Given the description of an element on the screen output the (x, y) to click on. 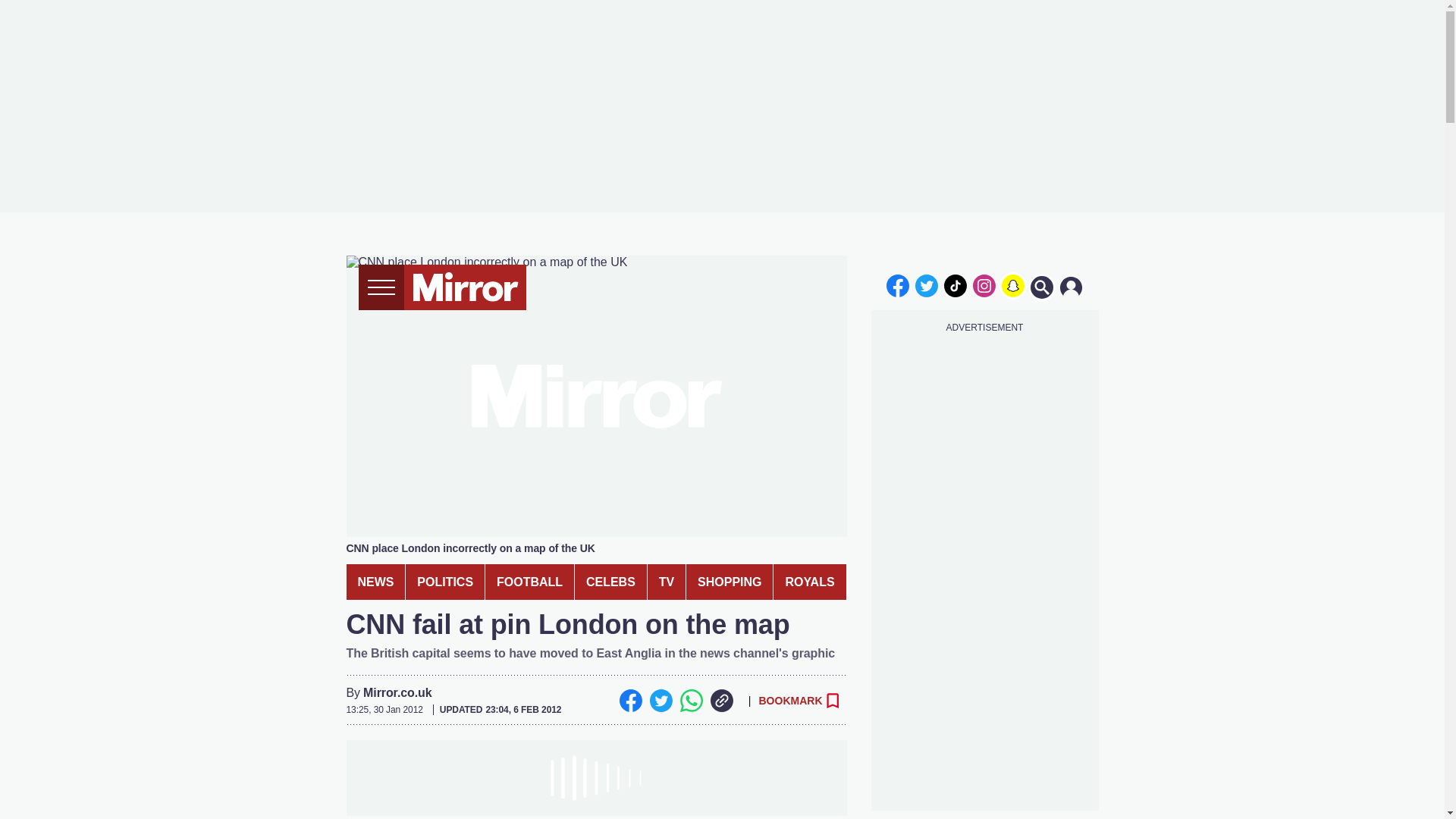
instagram (984, 285)
Facebook (630, 700)
CELEBS (610, 581)
NEWS (375, 581)
POLITICS (445, 581)
SHOPPING (729, 581)
Twitter (660, 700)
snapchat (1012, 285)
ROYALS (809, 581)
facebook (897, 285)
TV (666, 581)
FOOTBALL (528, 581)
tiktok (955, 285)
Whatsapp (690, 700)
twitter (926, 285)
